Given the description of an element on the screen output the (x, y) to click on. 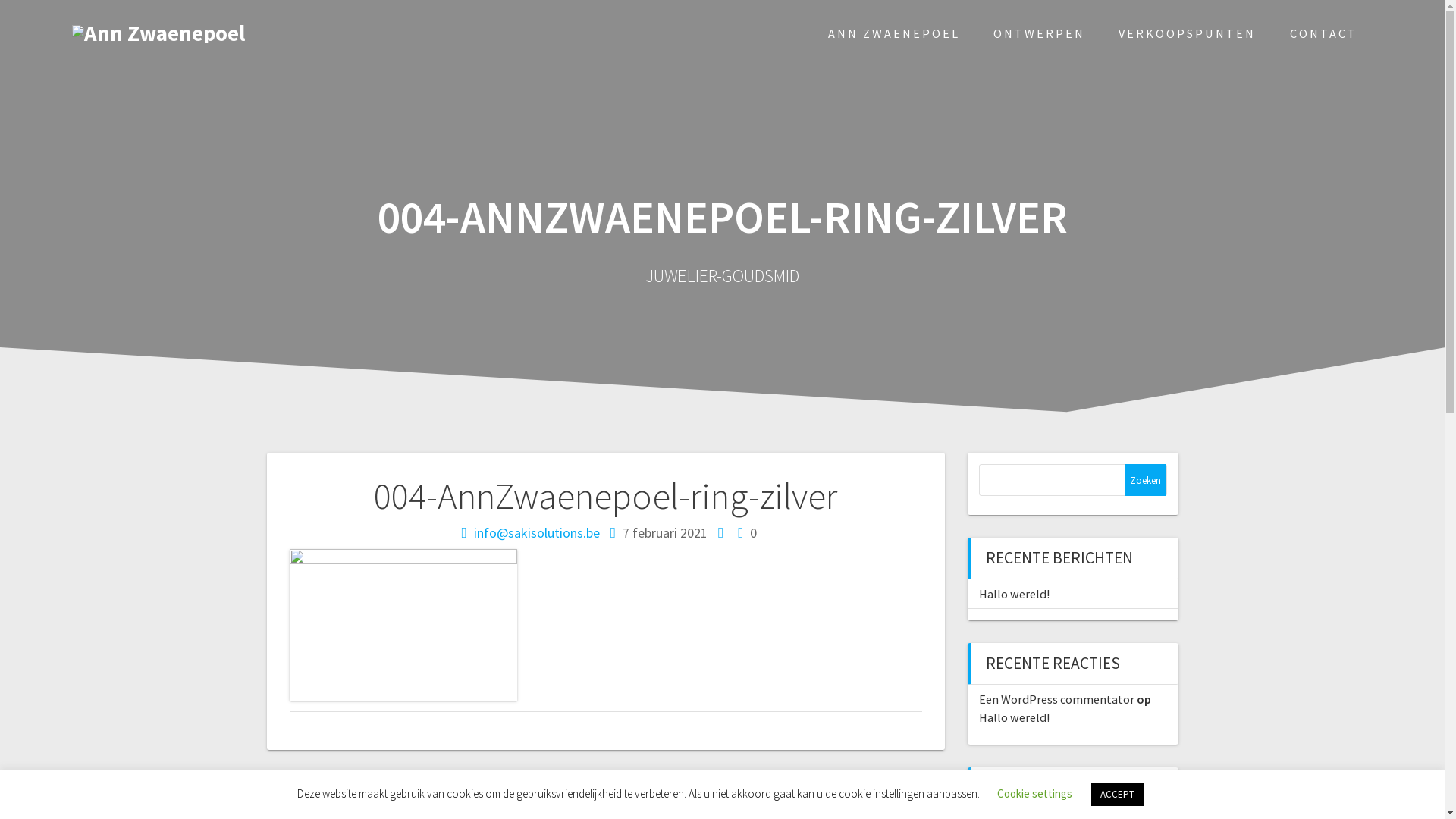
Een WordPress commentator Element type: text (1055, 698)
ACCEPT Element type: text (1117, 794)
ANN ZWAENEPOEL Element type: text (894, 33)
info@sakisolutions.be Element type: text (536, 532)
Hallo wereld! Element type: text (1013, 716)
Cookie settings Element type: text (1034, 793)
ONTWERPEN Element type: text (1039, 33)
CONTACT Element type: text (1323, 33)
PREVIOUS:
PREVIOUS POST:
004-ANNZWAENEPOEL-RING-ZILVER Element type: text (404, 787)
VERKOOPSPUNTEN Element type: text (1186, 33)
Hallo wereld! Element type: text (1013, 593)
Zoeken Element type: text (1144, 479)
